Given the description of an element on the screen output the (x, y) to click on. 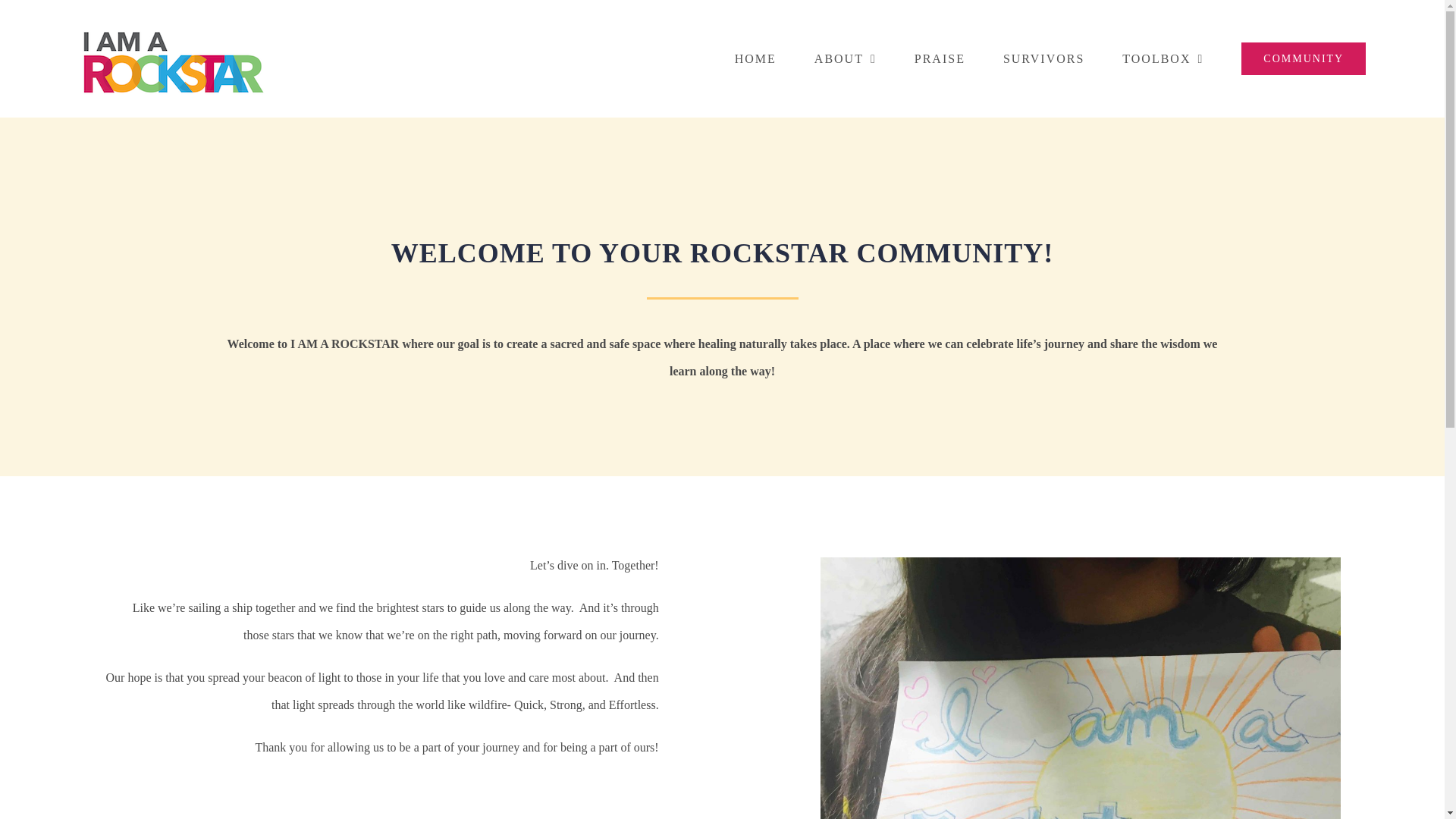
Page 10 (381, 656)
COMMUNITY (1303, 58)
